Given the description of an element on the screen output the (x, y) to click on. 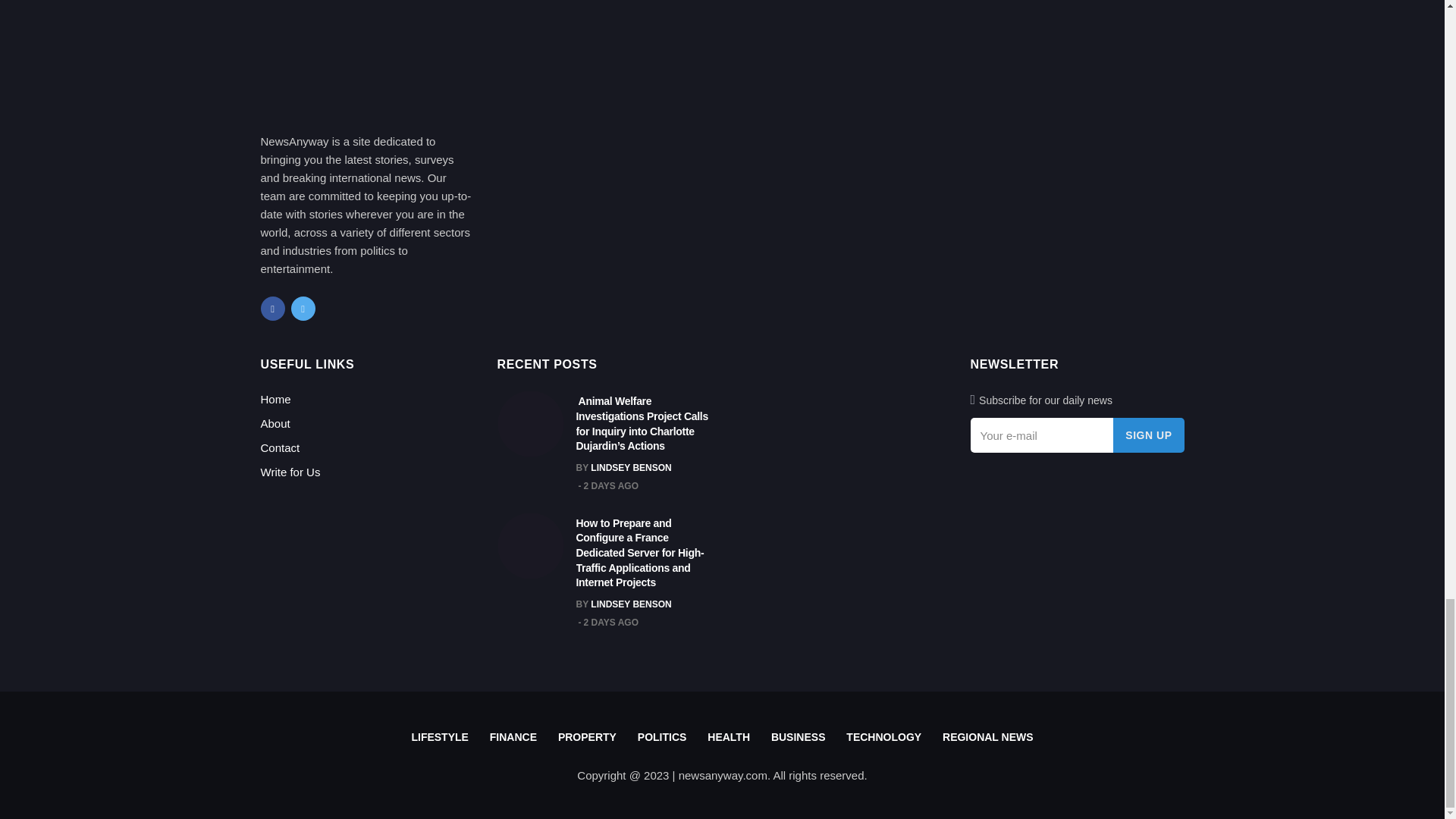
Sign Up (1148, 434)
